Given the description of an element on the screen output the (x, y) to click on. 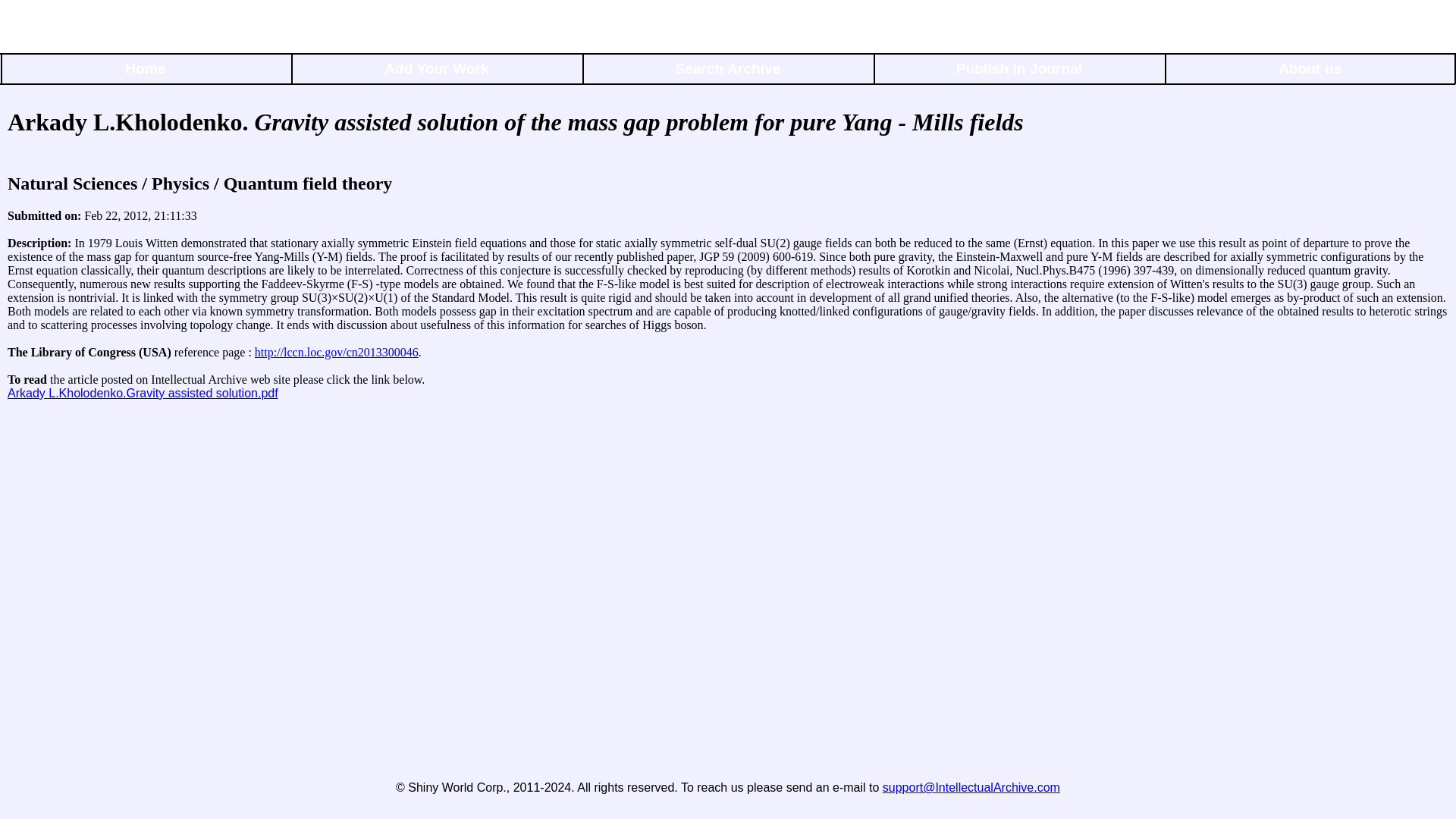
Publish in Journal (1018, 71)
Search Archive (727, 71)
About us (1309, 71)
Arkady L.Kholodenko.Gravity assisted solution.pdf (142, 392)
Home (145, 71)
Add Your Work (436, 71)
